Given the description of an element on the screen output the (x, y) to click on. 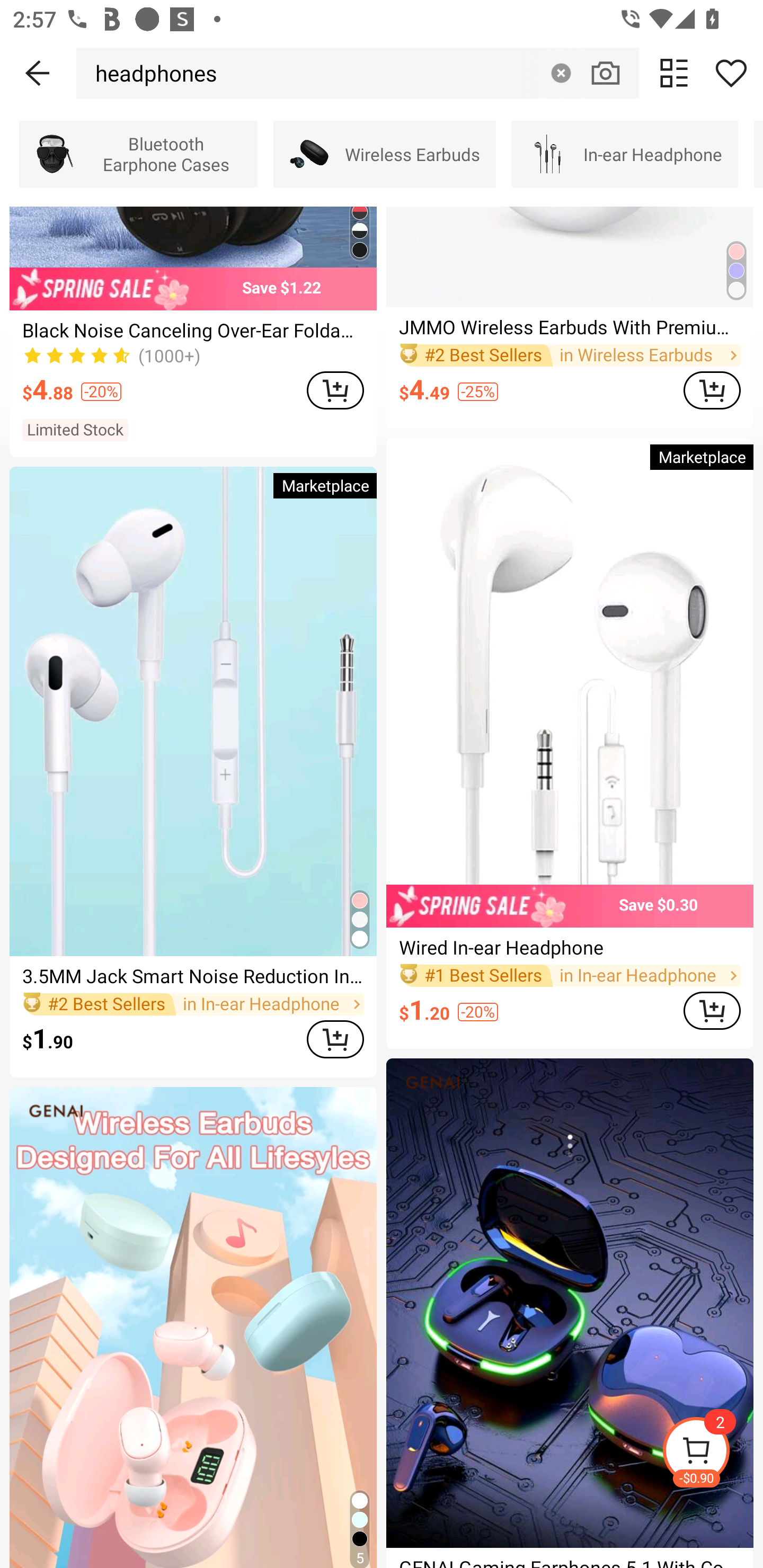
headphones (151, 72)
Clear (560, 72)
change view (673, 72)
Share (730, 72)
Bluetooth Earphone Cases (138, 154)
Wireless Earbuds (384, 154)
In-ear Headphone (624, 154)
#2 Best Sellers in Wireless Earbuds (569, 355)
ADD TO CART (334, 390)
ADD TO CART (711, 390)
#1 Best Sellers in In-ear Headphone (569, 974)
#2 Best Sellers in In-ear Headphone (192, 1003)
ADD TO CART (711, 1010)
ADD TO CART (334, 1039)
-$0.90 (712, 1452)
